Given the description of an element on the screen output the (x, y) to click on. 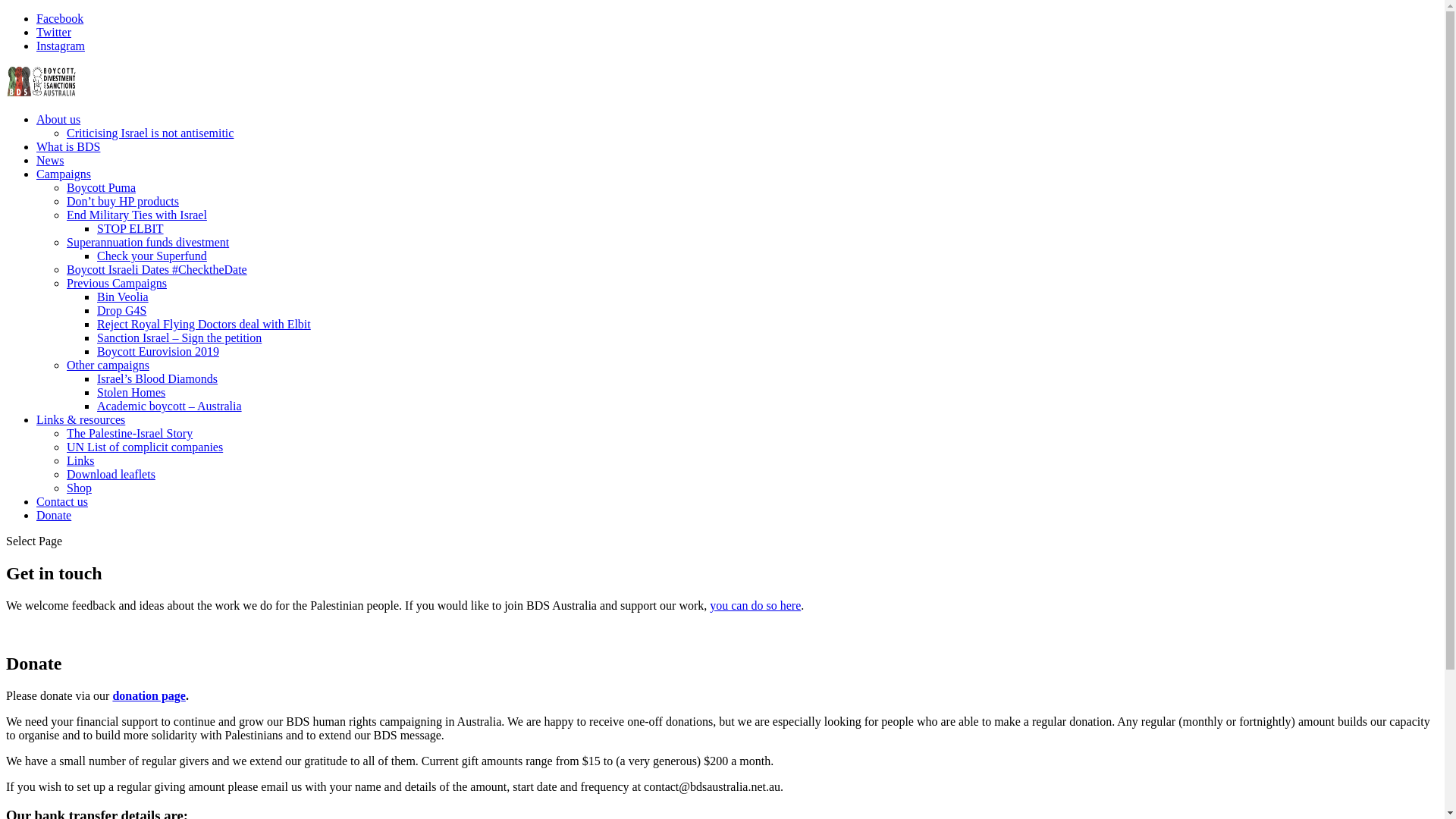
Links & resources Element type: text (80, 419)
donation page Element type: text (148, 695)
STOP ELBIT Element type: text (130, 228)
Download leaflets Element type: text (110, 473)
Previous Campaigns Element type: text (116, 282)
Check your Superfund Element type: text (152, 255)
Facebook Element type: text (59, 18)
Contact us Element type: text (61, 501)
Stolen Homes Element type: text (131, 391)
What is BDS Element type: text (68, 146)
Reject Royal Flying Doctors deal with Elbit Element type: text (203, 323)
UN List of complicit companies Element type: text (144, 446)
Shop Element type: text (78, 487)
News Element type: text (49, 159)
Criticising Israel is not antisemitic Element type: text (149, 132)
Donate Element type: text (53, 514)
Boycott Israeli Dates #ChecktheDate Element type: text (156, 269)
The Palestine-Israel Story Element type: text (129, 432)
Boycott Puma Element type: text (100, 187)
About us Element type: text (58, 118)
Links Element type: text (80, 460)
Drop G4S Element type: text (121, 310)
Campaigns Element type: text (63, 173)
End Military Ties with Israel Element type: text (136, 214)
Twitter Element type: text (53, 31)
Bin Veolia Element type: text (122, 296)
Superannuation funds divestment Element type: text (147, 241)
you can do so here Element type: text (754, 605)
Boycott Eurovision 2019 Element type: text (158, 351)
Other campaigns Element type: text (107, 364)
Instagram Element type: text (60, 45)
